Given the description of an element on the screen output the (x, y) to click on. 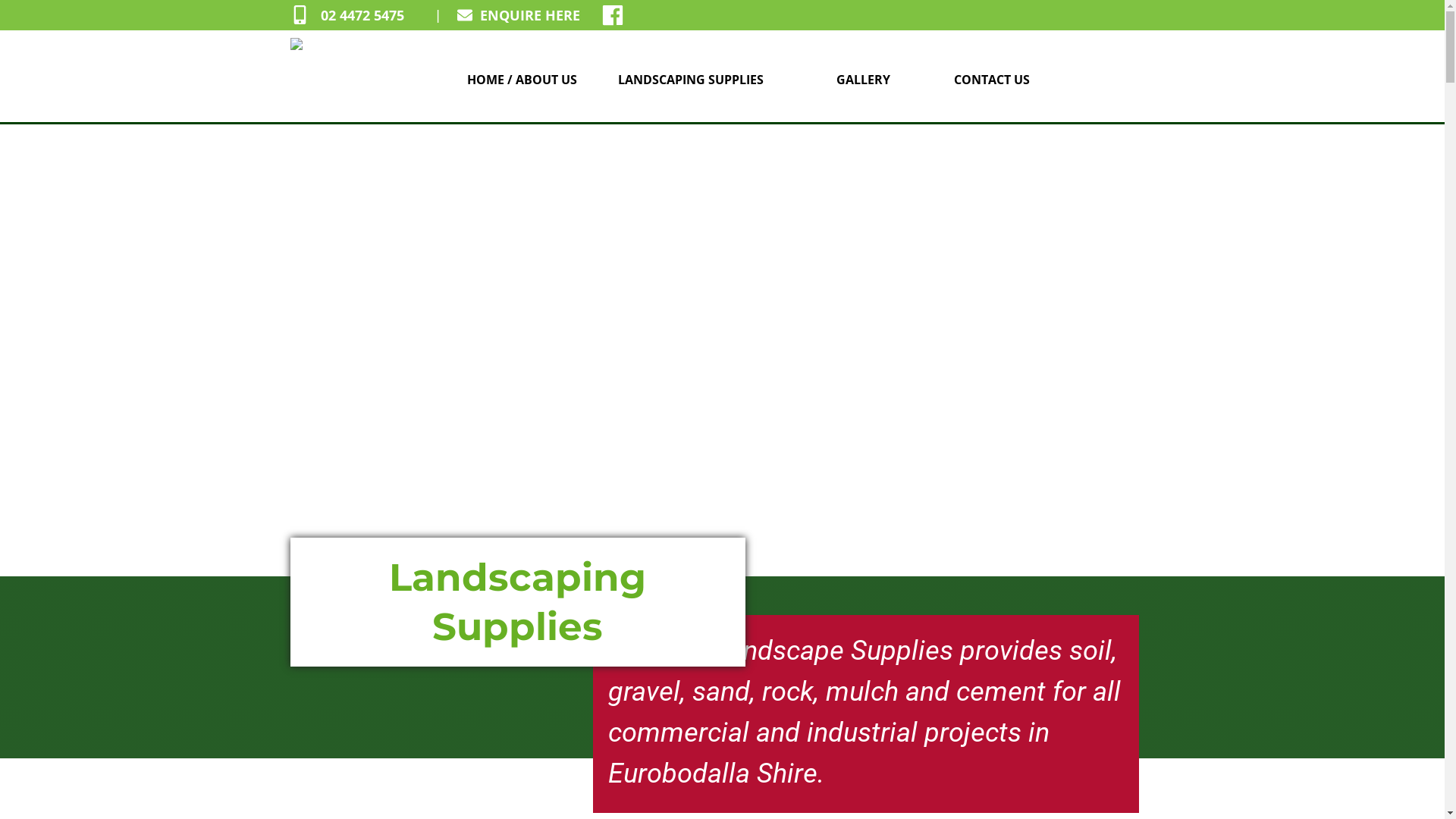
HOME / ABOUT US Element type: text (520, 79)
GALLERY Element type: text (861, 79)
ENQUIRE HERE Element type: text (539, 15)
CONTACT US Element type: text (990, 79)
